Given the description of an element on the screen output the (x, y) to click on. 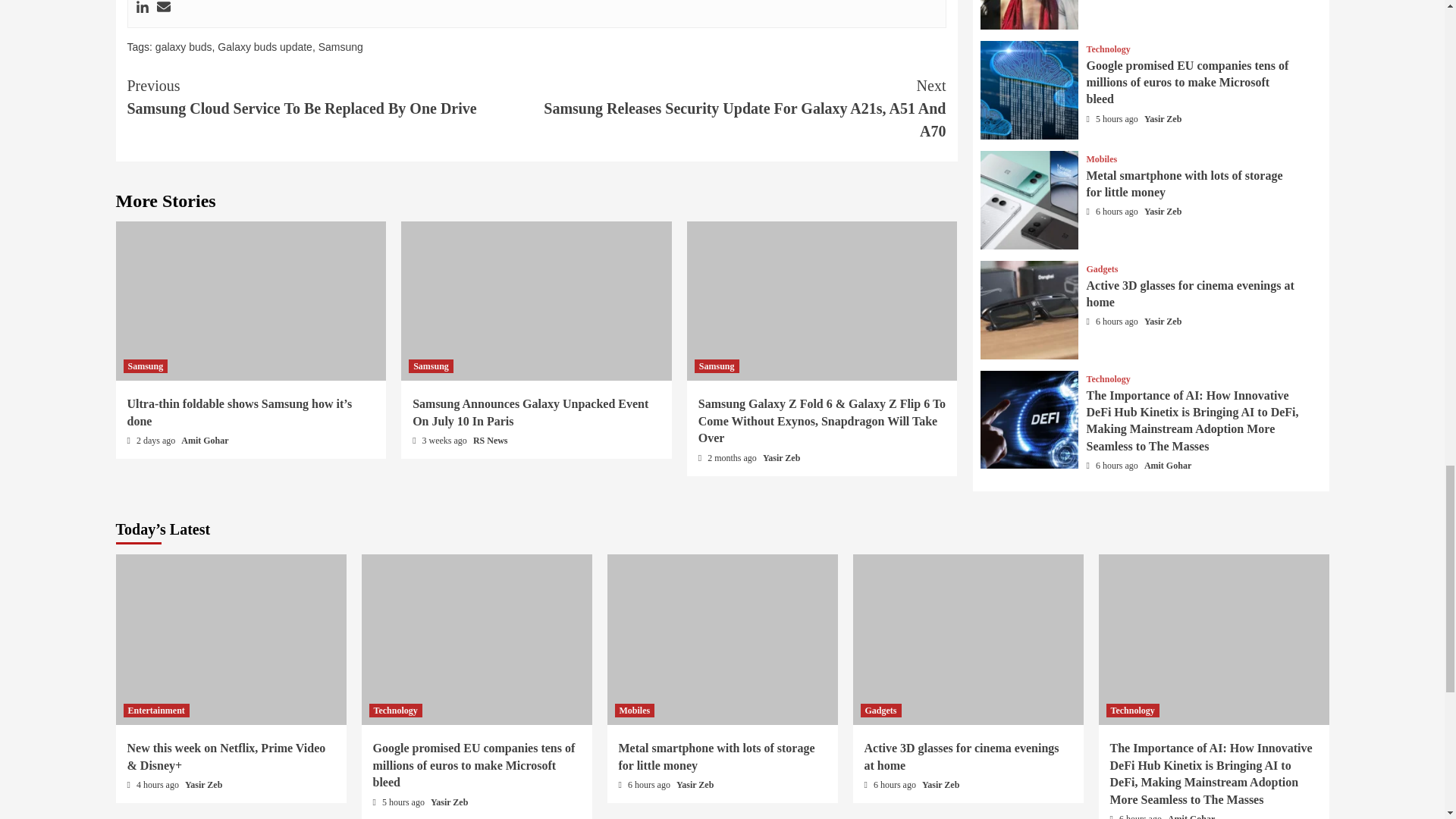
User email (162, 7)
Linkedin (141, 7)
